Given the description of an element on the screen output the (x, y) to click on. 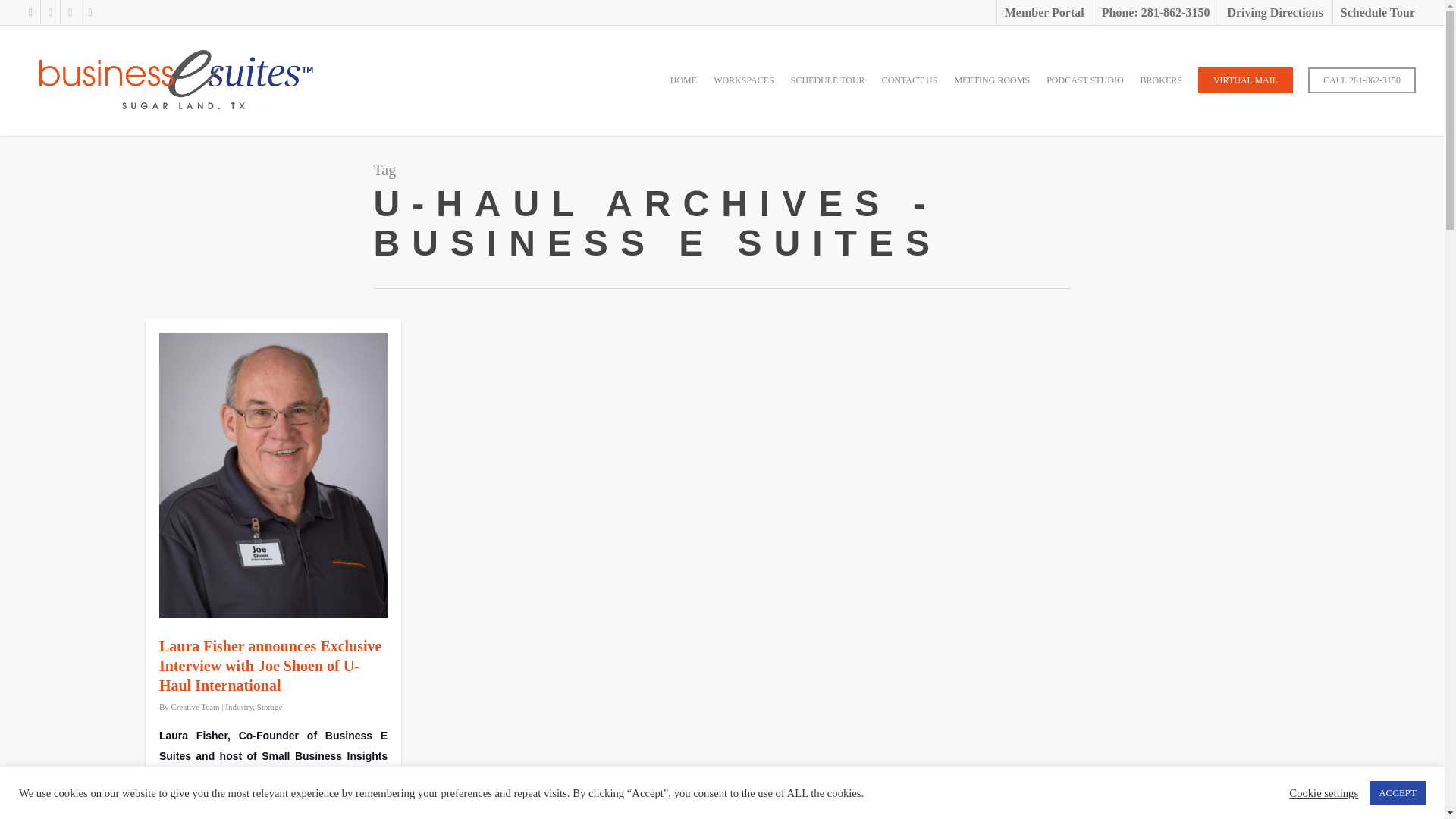
VIRTUAL MAIL (1245, 90)
Phone: 281-862-3150 (1155, 12)
Member Portal (1043, 12)
SCHEDULE TOUR (827, 90)
Driving Directions (1274, 12)
Posts by Creative Team (195, 706)
CALL 281-862-3150 (1361, 90)
PODCAST STUDIO (1085, 90)
Schedule Tour (1377, 12)
Creative Team (195, 706)
Industry (238, 706)
MEETING ROOMS (991, 90)
Storage (269, 706)
